Given the description of an element on the screen output the (x, y) to click on. 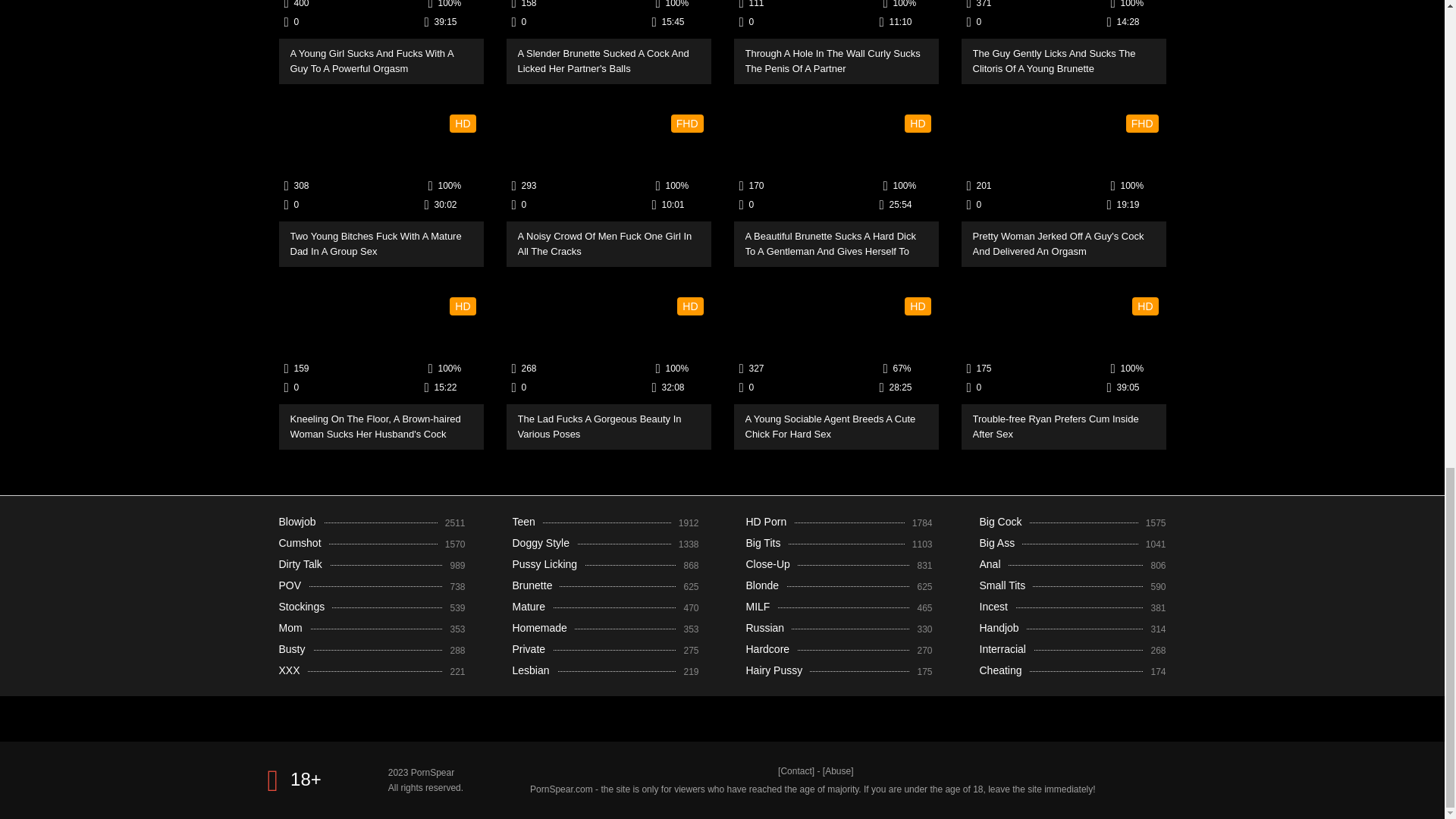
A Young Girl Sucks And Fucks With A Guy To A Powerful Orgasm (381, 21)
